Given the description of an element on the screen output the (x, y) to click on. 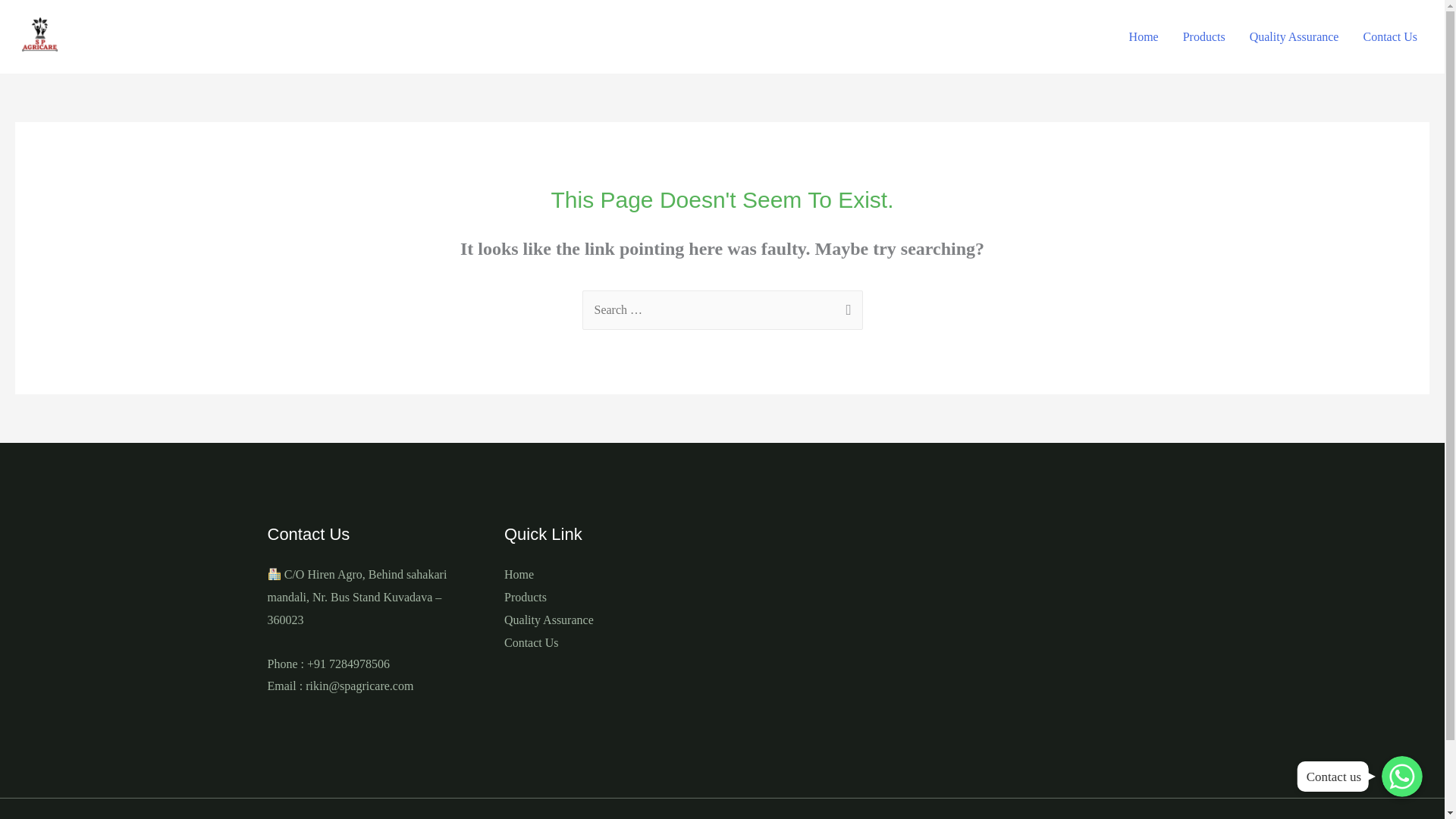
Quality Assurance (1294, 36)
Contact Us (531, 642)
Home (1143, 36)
Quality Assurance (548, 619)
WhatsApp (1401, 775)
Home (518, 574)
Contact Us (1390, 36)
Products (1203, 36)
Products (525, 596)
